Given the description of an element on the screen output the (x, y) to click on. 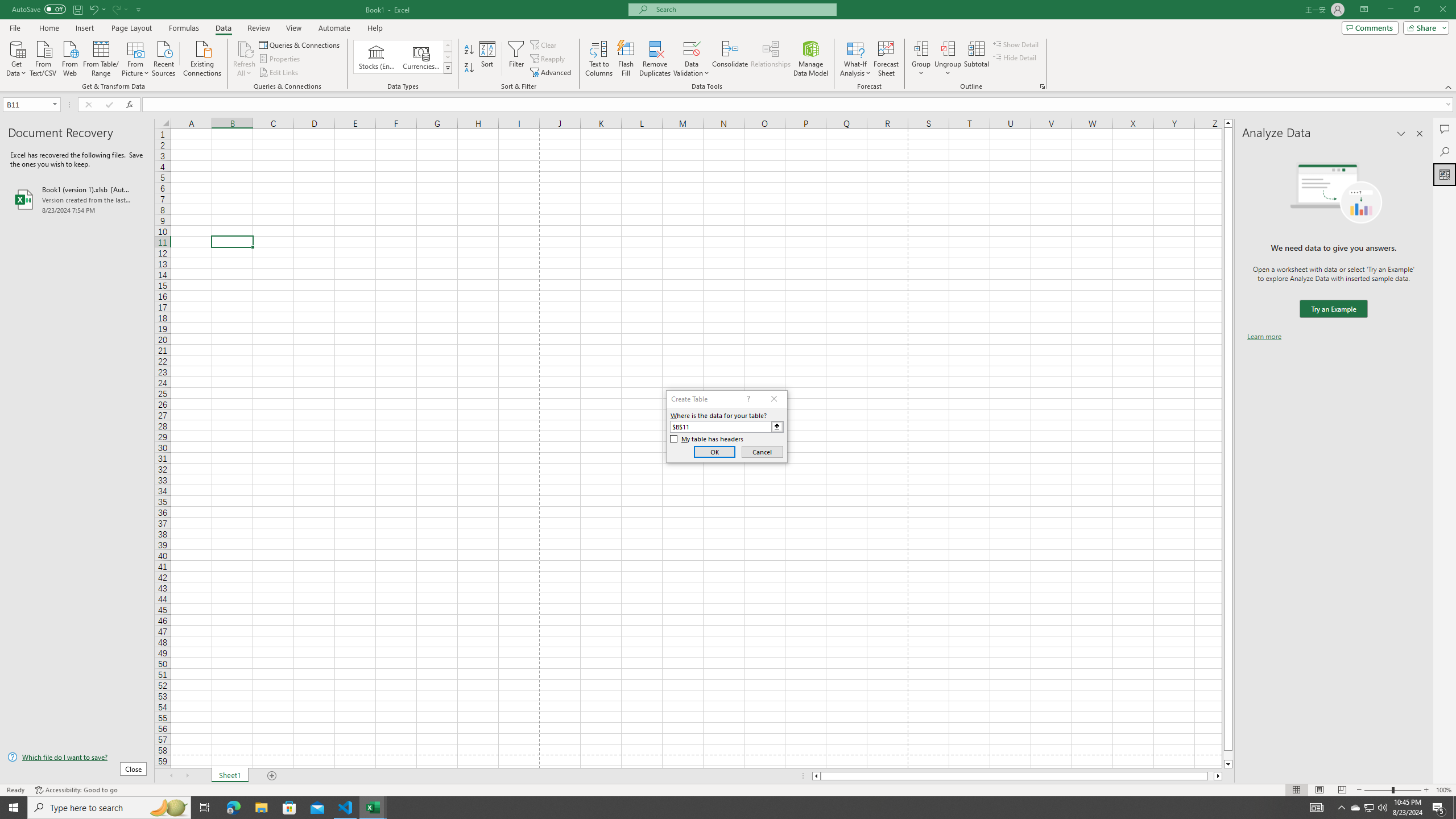
From Picture (135, 57)
What-If Analysis (855, 58)
Get Data (16, 57)
Forecast Sheet (885, 58)
Sort A to Z (469, 49)
